Given the description of an element on the screen output the (x, y) to click on. 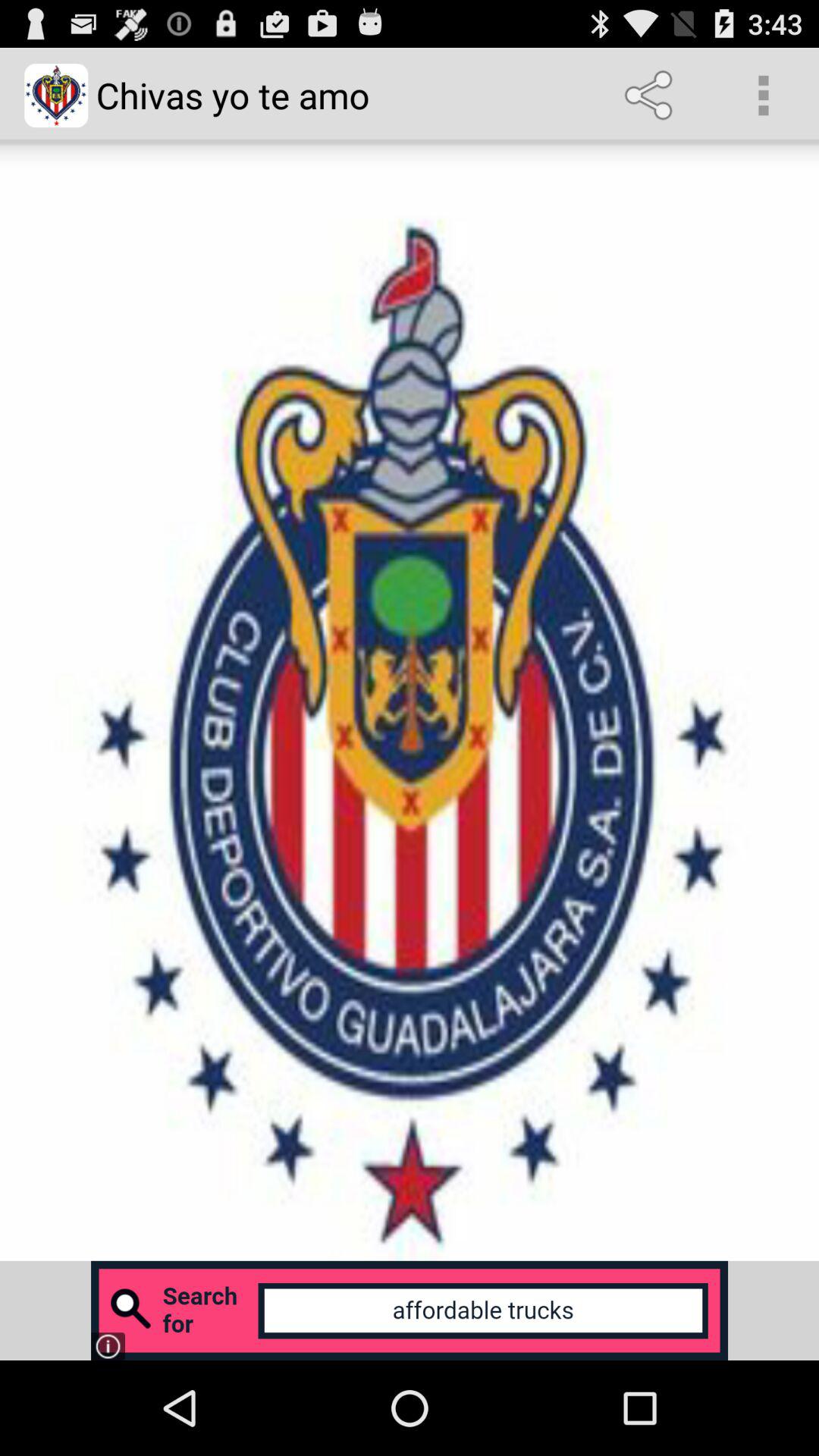
select the item next to chivas yo te item (651, 95)
